Given the description of an element on the screen output the (x, y) to click on. 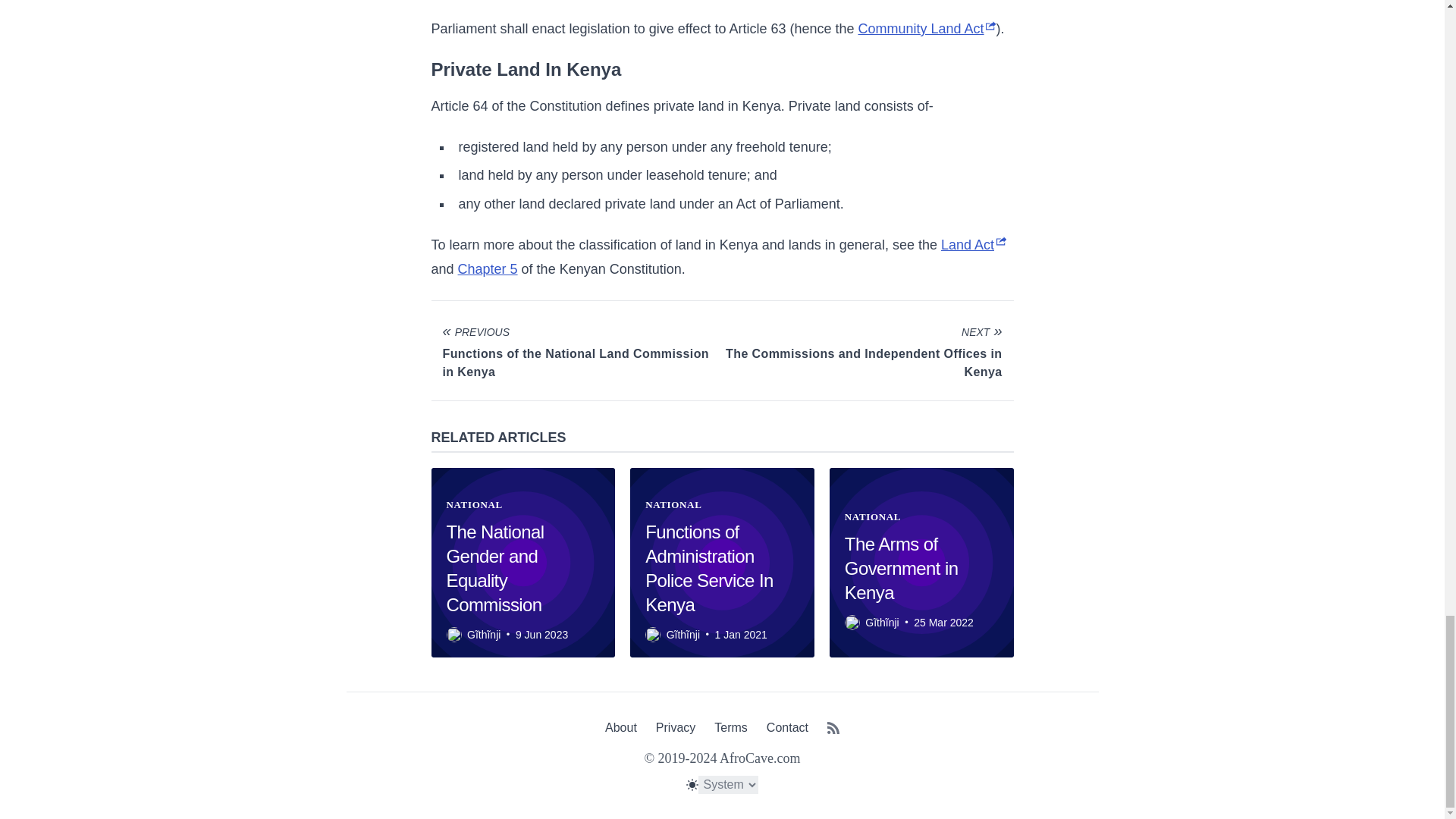
The Arms of Government in Kenya (901, 567)
Land Act (973, 244)
RSS Feed (832, 729)
Contact (787, 727)
Chapter 5 (488, 268)
Terms (731, 727)
About (621, 727)
The National Gender and Equality Commission (494, 568)
Privacy (675, 727)
Functions of Administration Police Service In Kenya (709, 568)
